Given the description of an element on the screen output the (x, y) to click on. 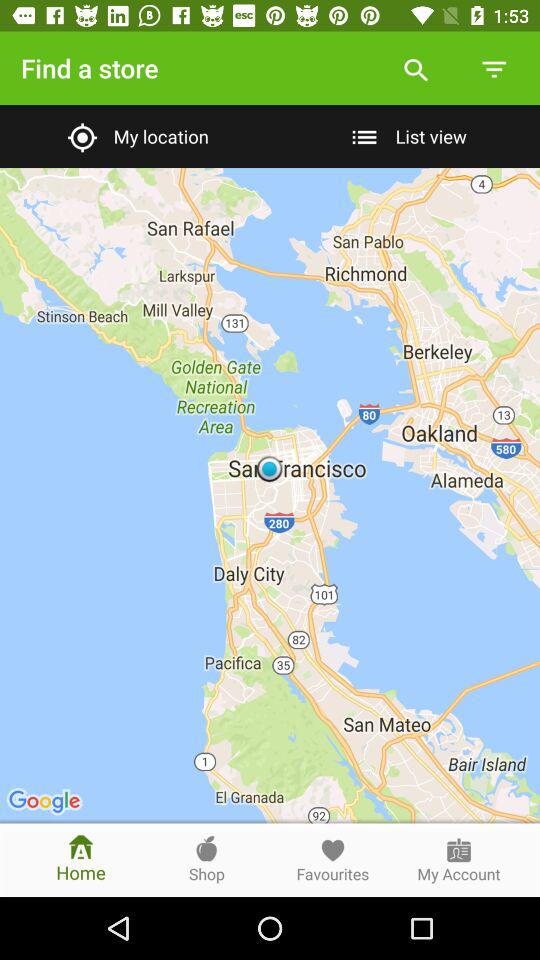
flip to the list view (404, 136)
